Given the description of an element on the screen output the (x, y) to click on. 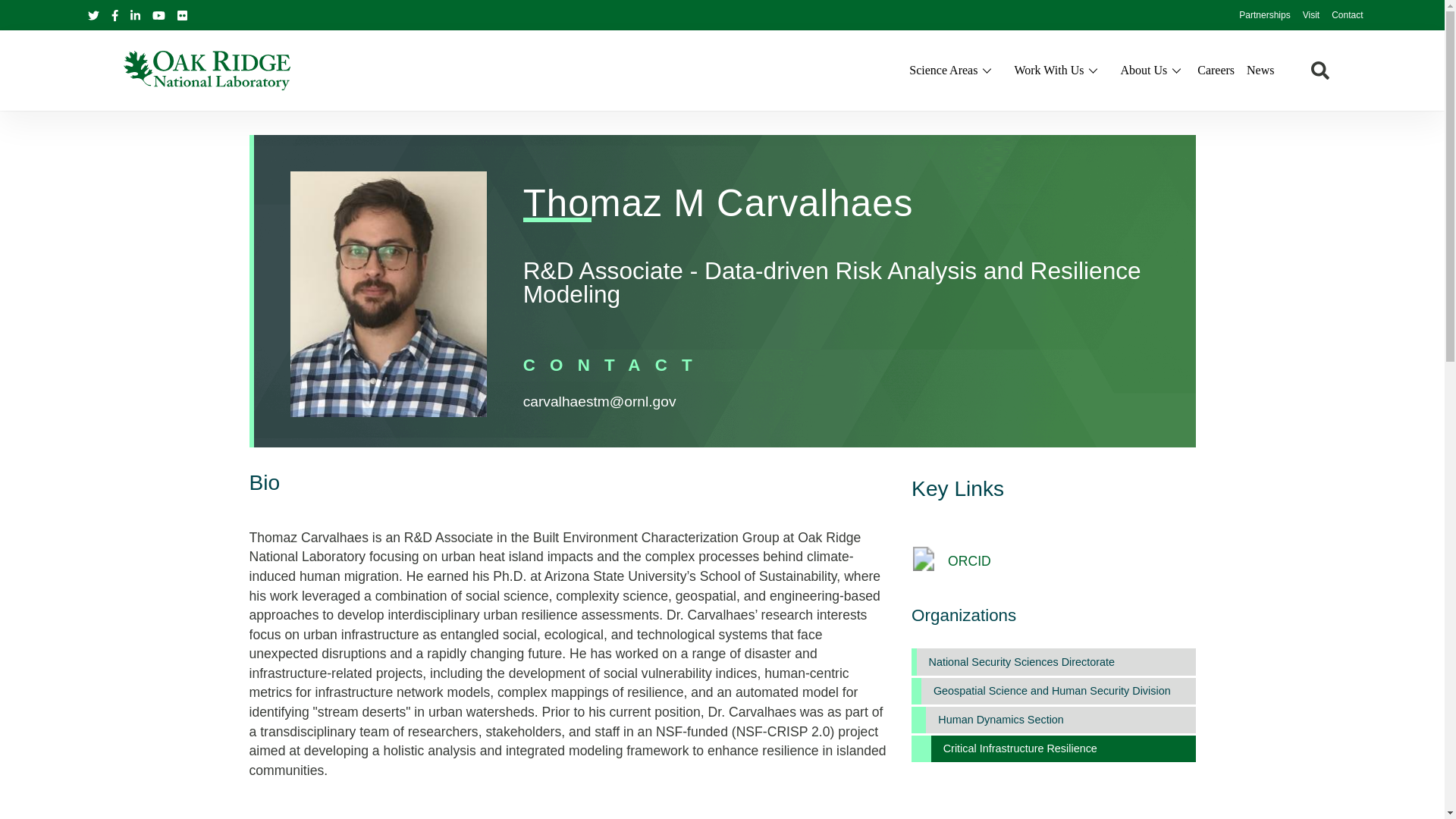
Oak Ridge National Laboratory (206, 70)
Partnerships (1264, 15)
Careers (1215, 69)
Contact (1347, 15)
YouTube (158, 15)
News (1260, 69)
